Given the description of an element on the screen output the (x, y) to click on. 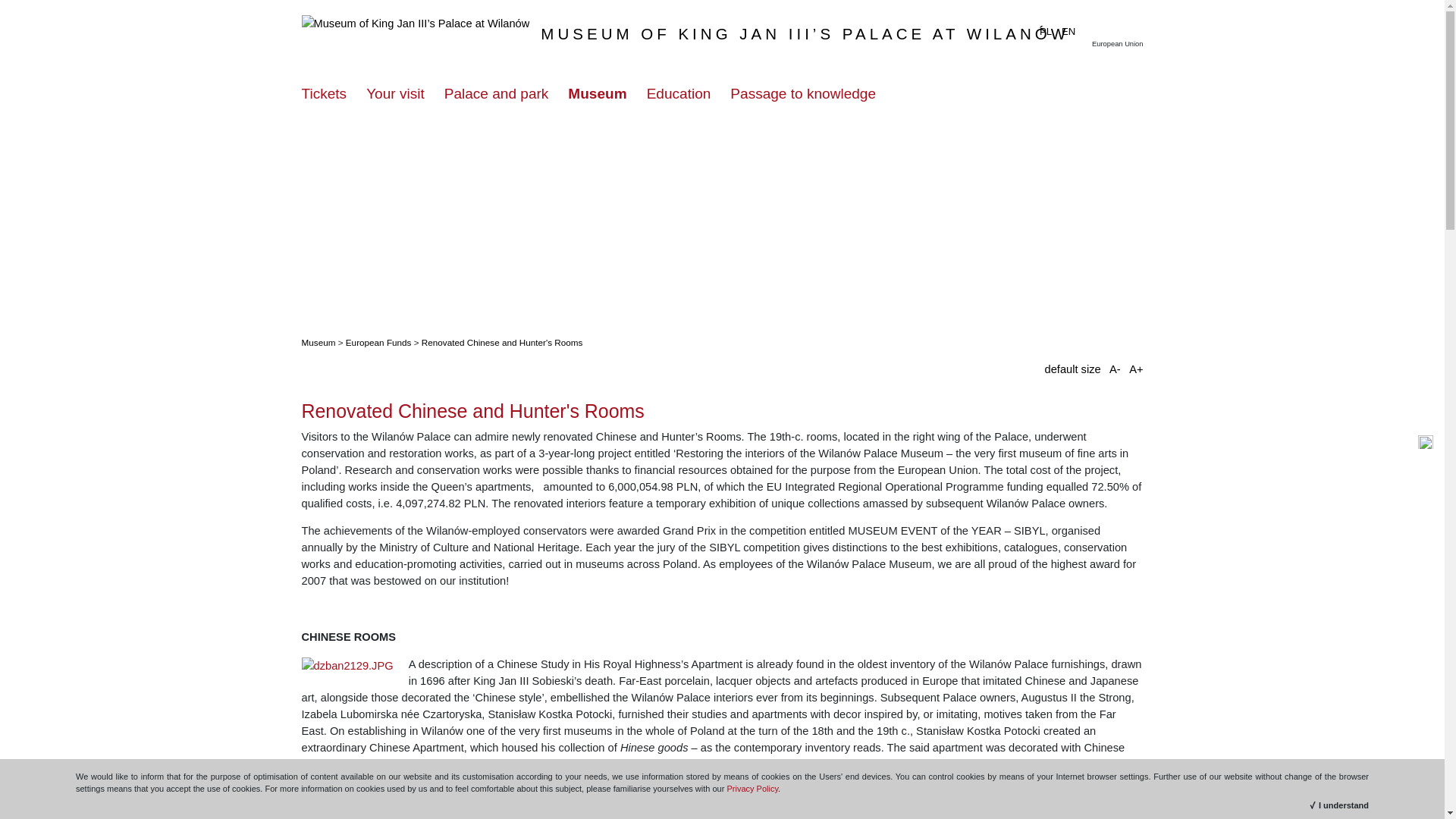
European Funds (379, 342)
Wersja polska (1048, 33)
Tickets (324, 93)
Education (678, 93)
Passage to knowledge (803, 93)
Museum (318, 342)
Palace and park (496, 93)
UE (1118, 26)
Museum (596, 93)
English version (1070, 33)
